Given the description of an element on the screen output the (x, y) to click on. 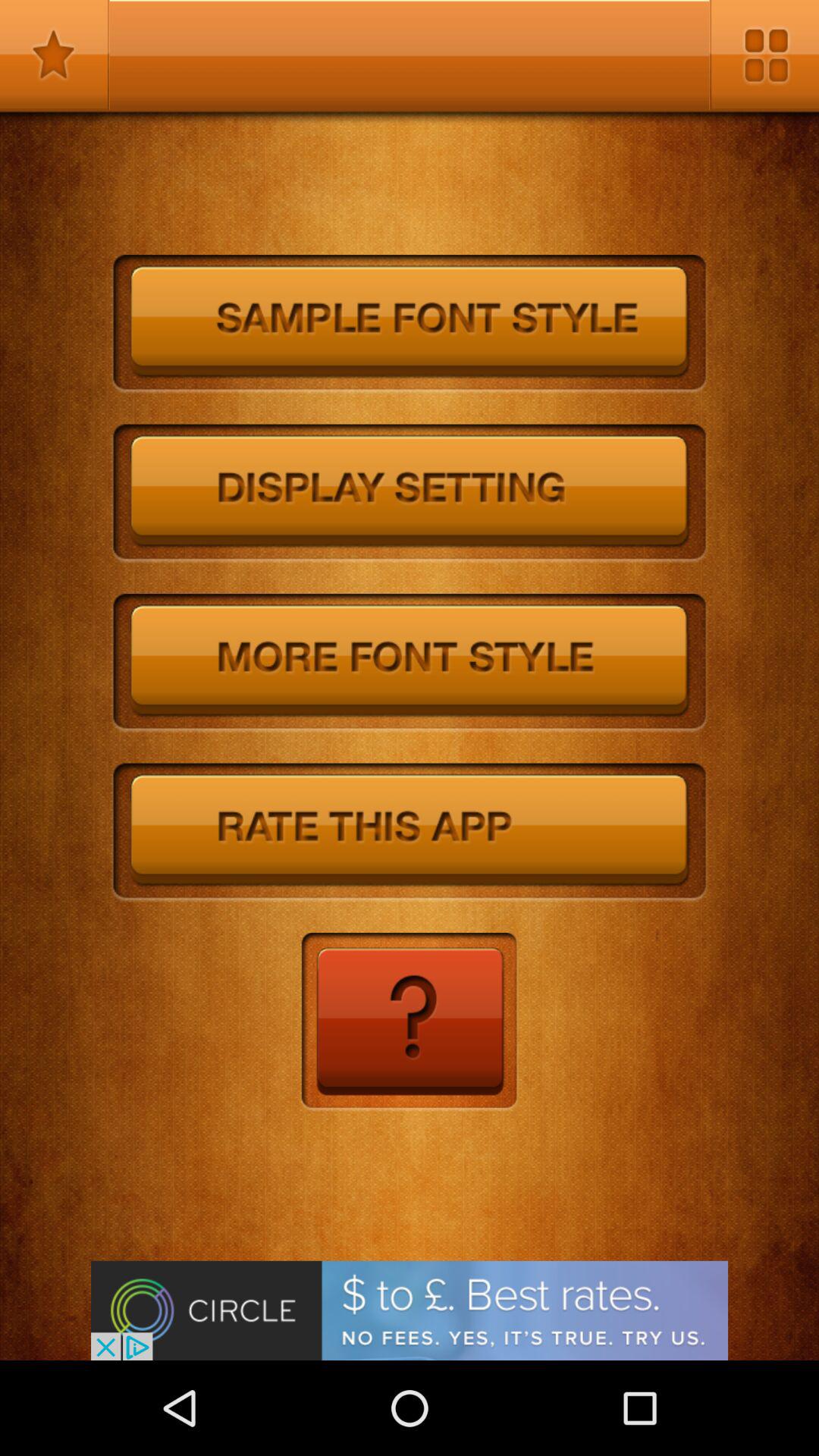
show favorites (54, 54)
